Given the description of an element on the screen output the (x, y) to click on. 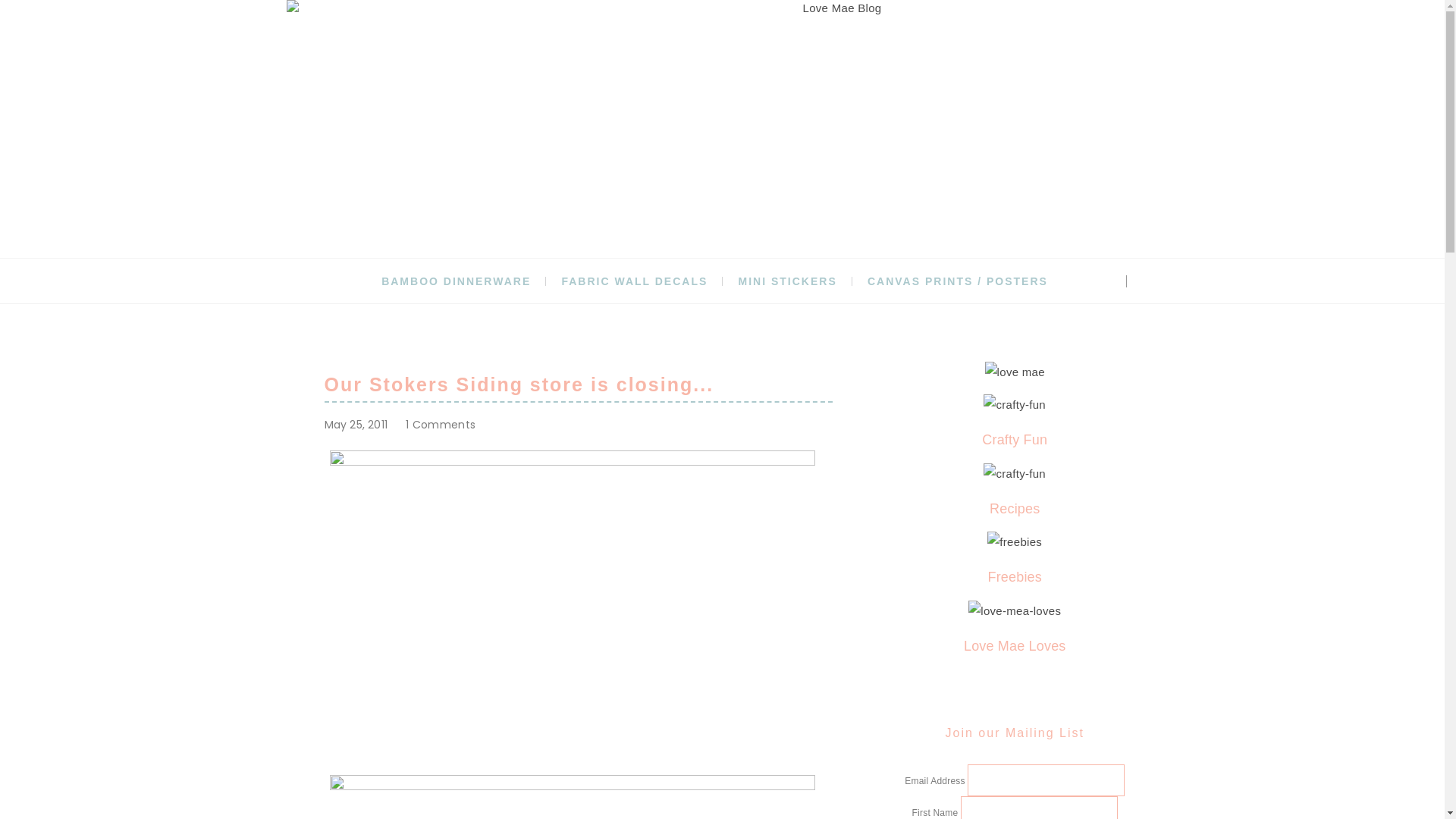
MINI STICKERS Element type: text (787, 281)
CANVAS PRINTS / POSTERS Element type: text (957, 281)
BAMBOO DINNERWARE Element type: text (455, 281)
FABRIC WALL DECALS Element type: text (634, 281)
1 Comments Element type: text (440, 424)
